Given the description of an element on the screen output the (x, y) to click on. 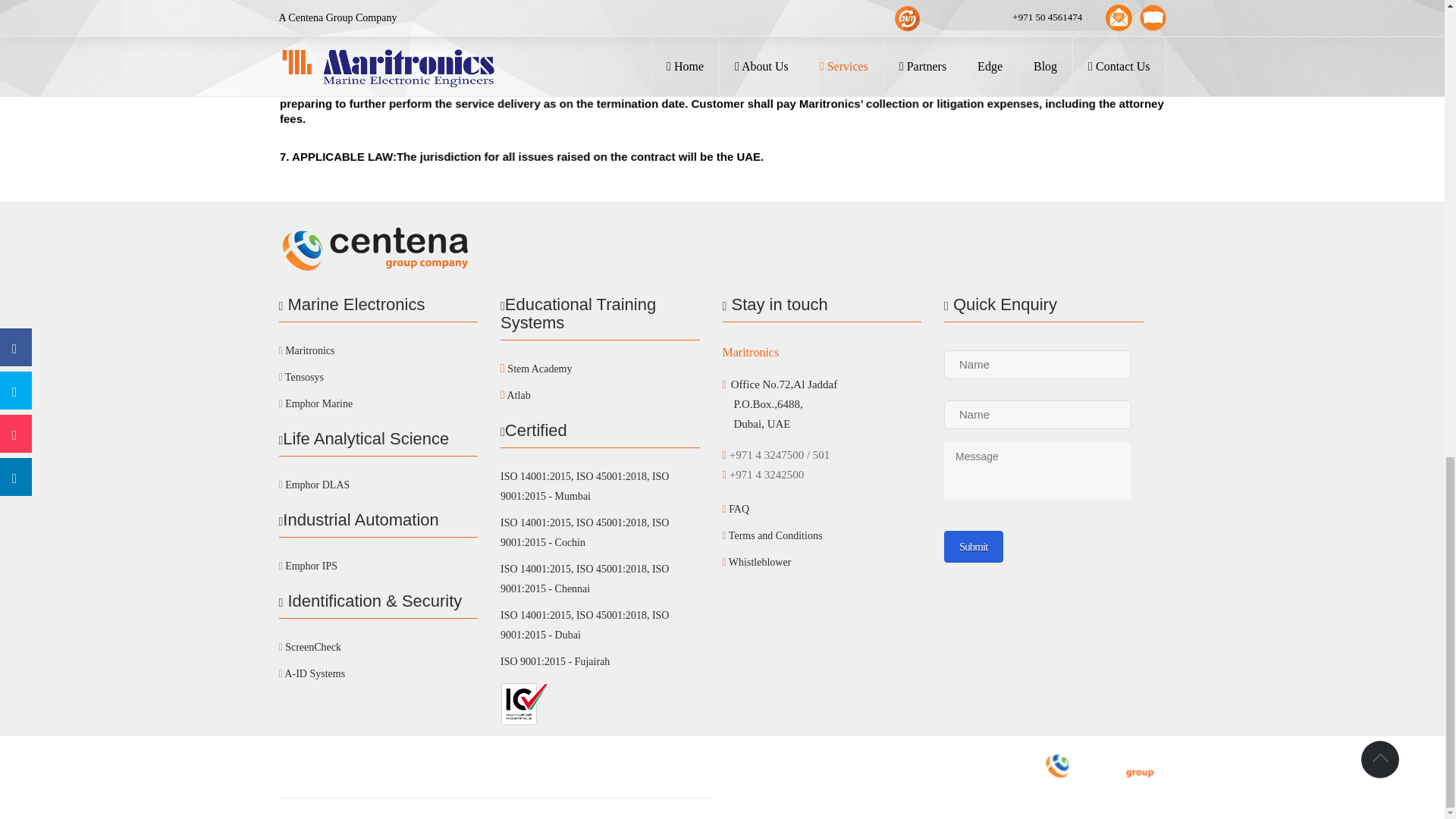
Emphor IPS (379, 566)
FAQ (821, 509)
Atlab (600, 395)
ISO 14001:2015, ISO 45001:2018, ISO 9001:2015 - Cochin (600, 533)
Back to top (1380, 759)
Emphor DLAS (379, 485)
A-ID Systems (379, 674)
ISO 14001:2015, ISO 45001:2018, ISO 9001:2015 - Dubai (600, 626)
Tensosys (379, 377)
Emphor Marine (379, 403)
